Given the description of an element on the screen output the (x, y) to click on. 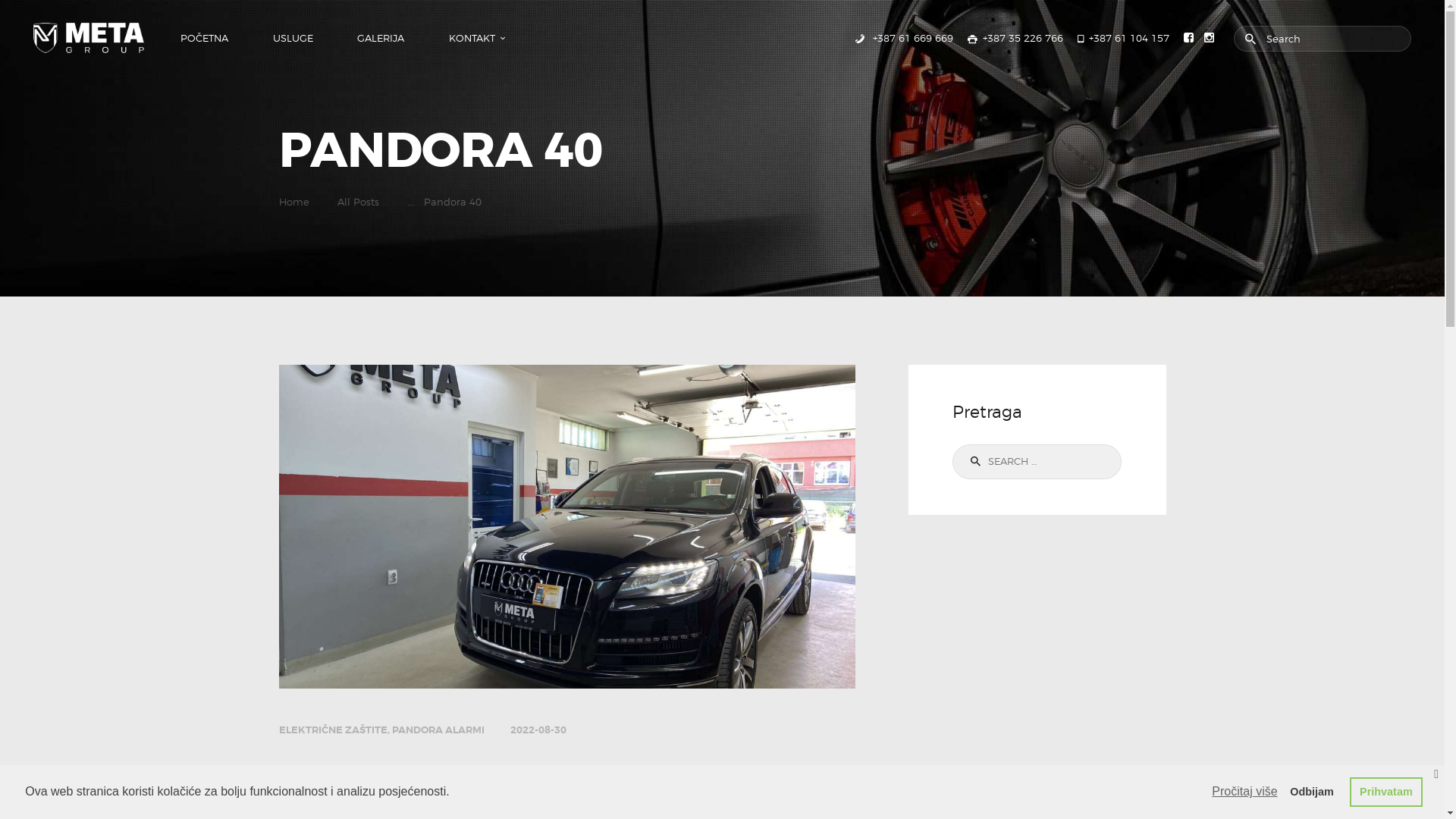
Search Element type: text (971, 461)
+387 61 104 157 Element type: text (1123, 37)
Prihvatam Element type: text (1386, 791)
PANDORA ALARMI Element type: text (437, 729)
KONTAKT Element type: text (470, 37)
Odbijam Element type: text (1312, 791)
All Posts Element type: text (358, 201)
GALERIJA Element type: text (380, 37)
USLUGE Element type: text (293, 37)
+387 61 669 669 Element type: text (902, 37)
Home Element type: text (294, 201)
+387 35 226 766 Element type: text (1015, 37)
2022-08-30 Element type: text (538, 729)
